Given the description of an element on the screen output the (x, y) to click on. 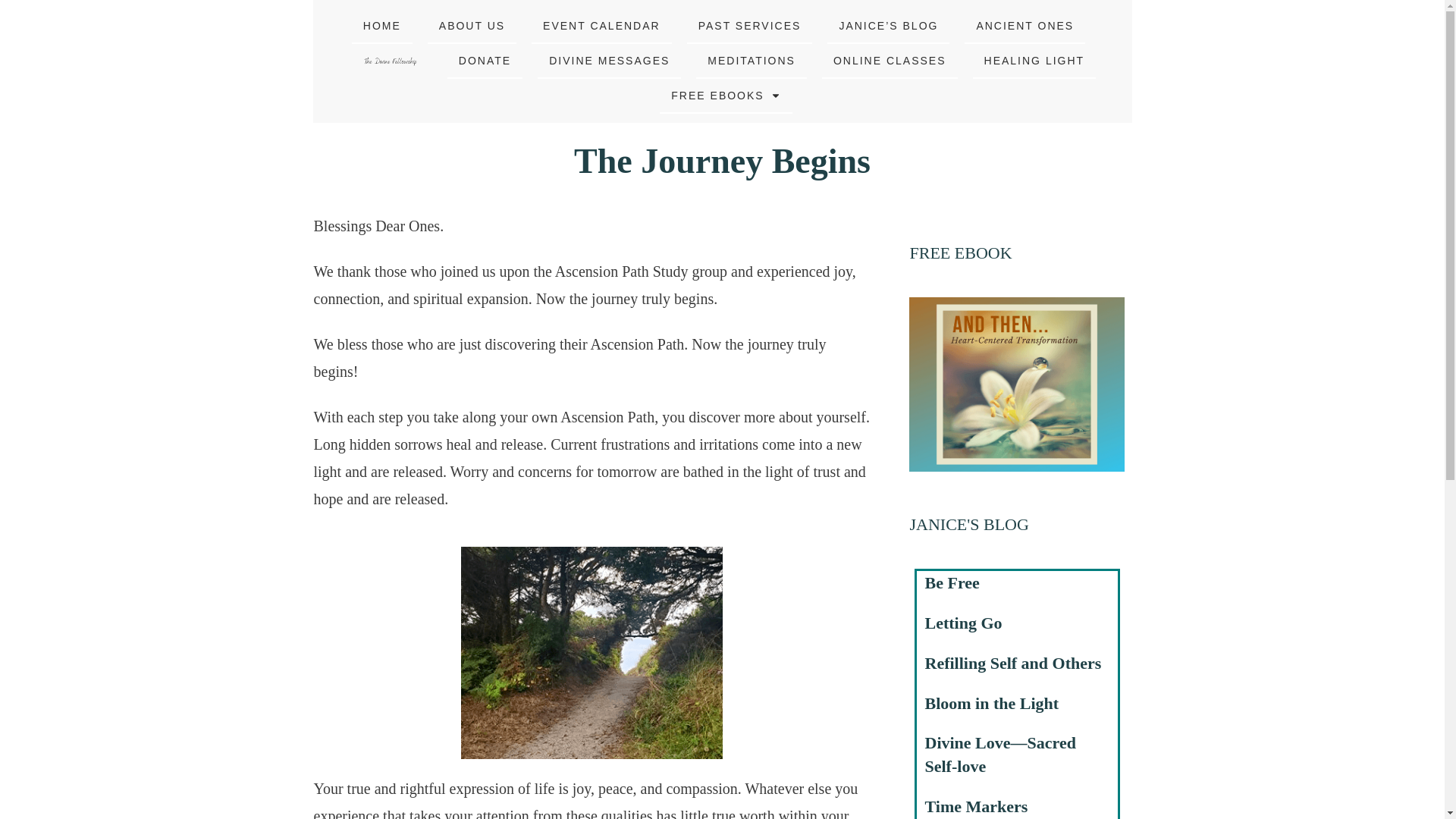
Time Markers (975, 805)
Letting Go (963, 622)
Bloom in the Light (991, 702)
The Journey Begins (721, 160)
Refilling Self and Others (1013, 662)
EVENT CALENDAR (602, 25)
MEDITATIONS (750, 60)
FREE EBOOKS (725, 95)
Be Free (951, 582)
HEALING LIGHT (1034, 60)
Be Free (951, 582)
The Journey Begins (721, 160)
Bloom in the Light (991, 702)
ONLINE CLASSES (889, 60)
Time Markers (975, 805)
